Given the description of an element on the screen output the (x, y) to click on. 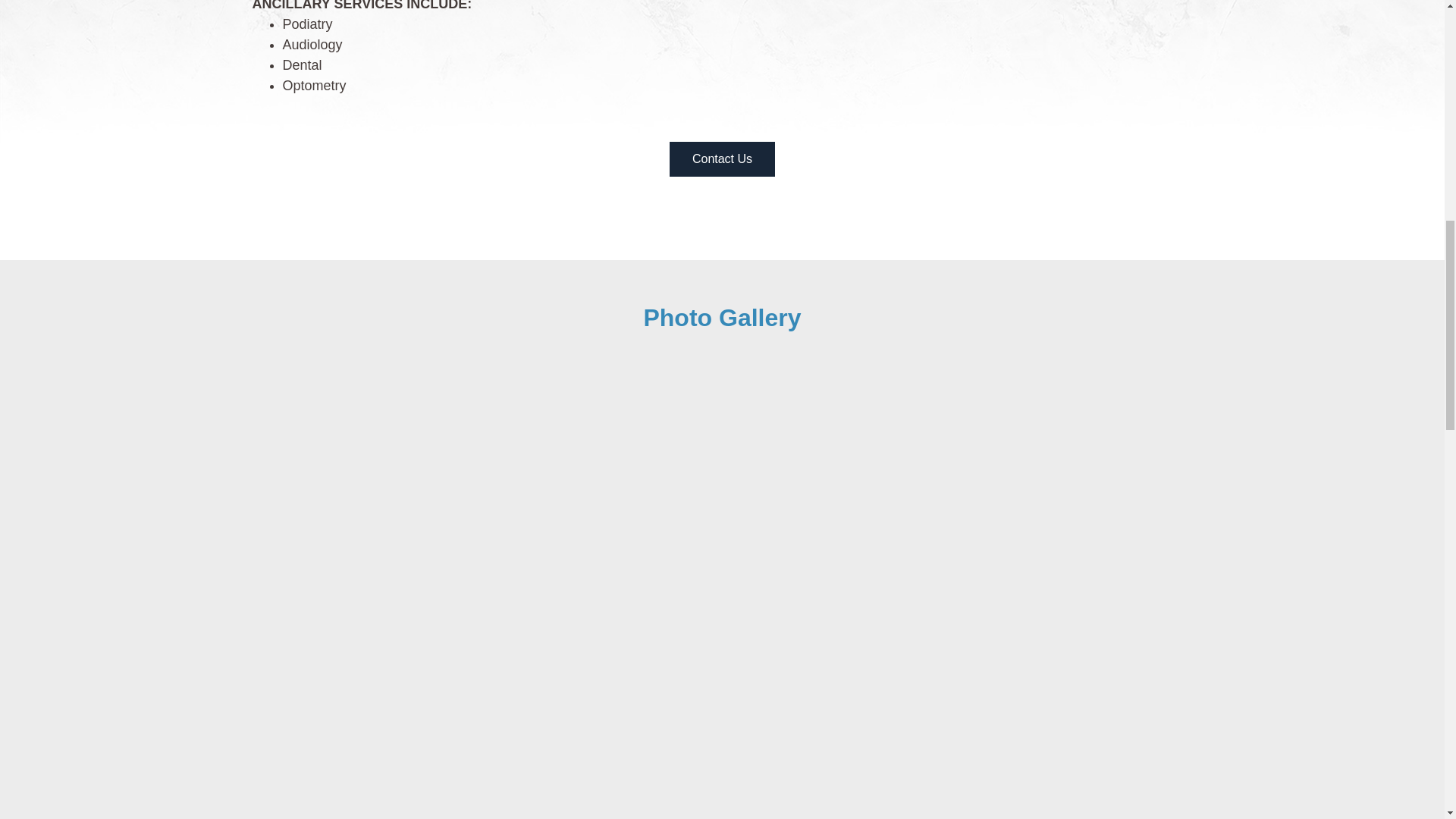
Contact Us (721, 158)
